Given the description of an element on the screen output the (x, y) to click on. 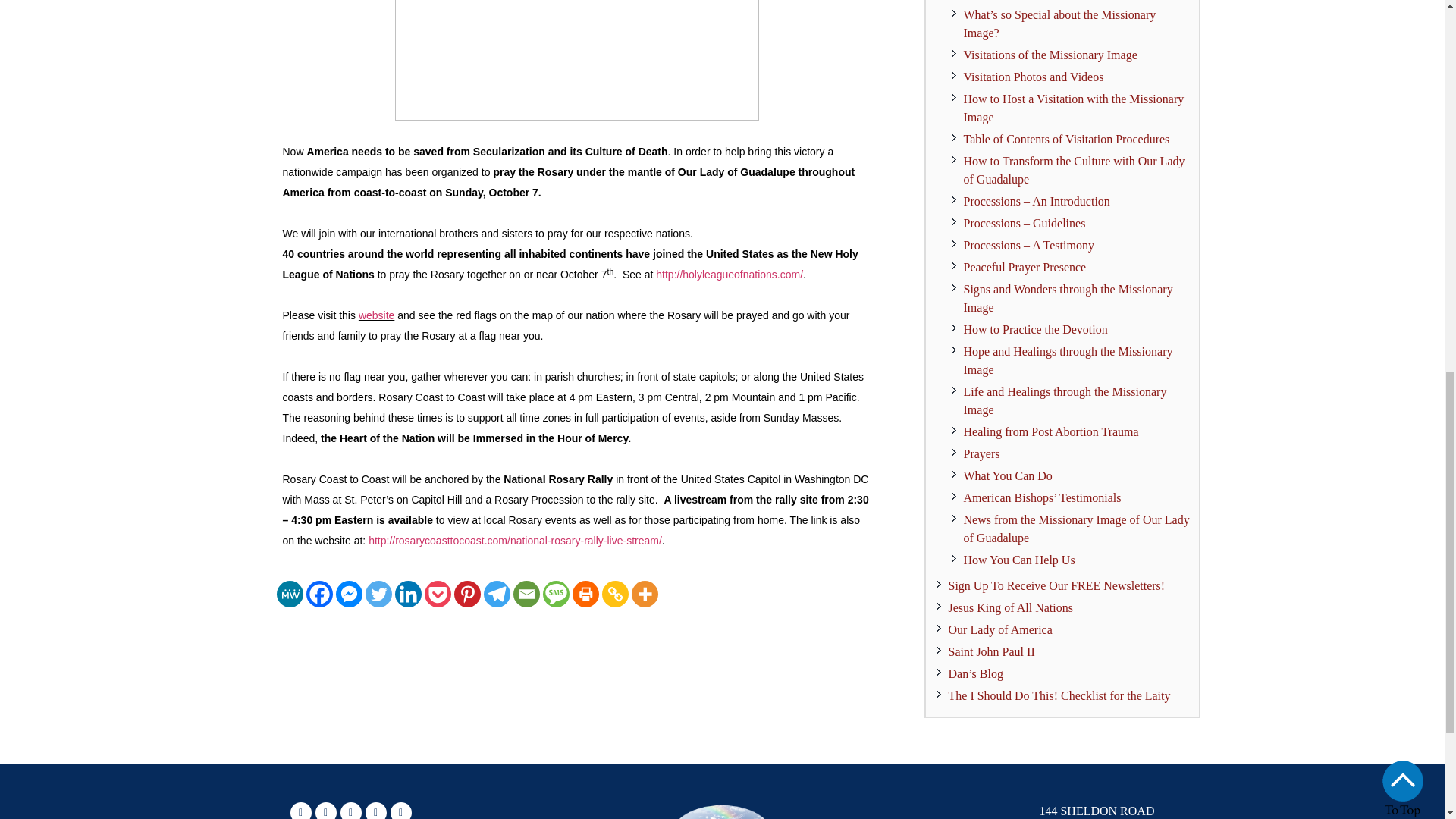
MeWe (289, 593)
